Given the description of an element on the screen output the (x, y) to click on. 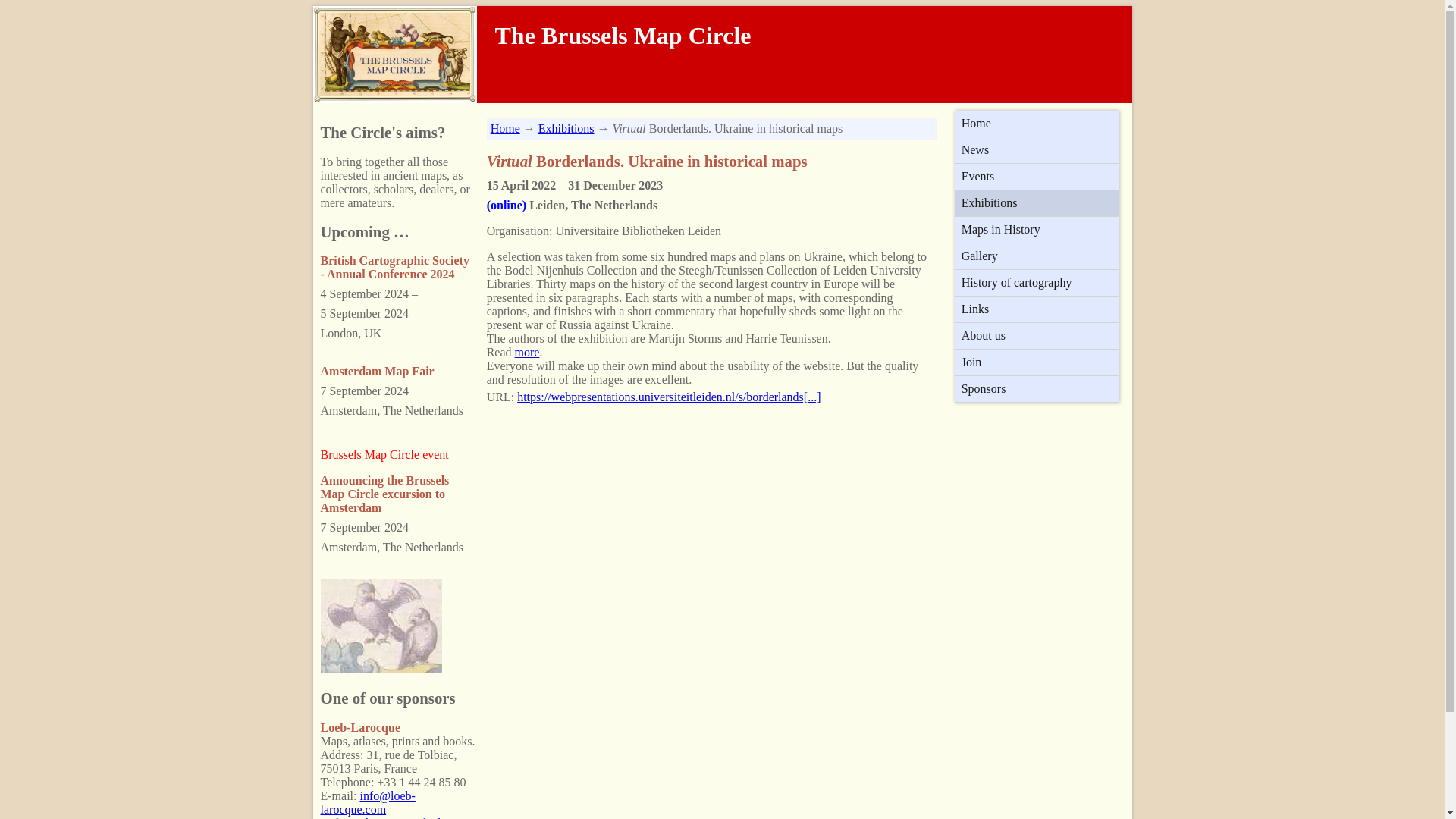
Events (1037, 176)
Join (1037, 362)
About us (1037, 335)
News (1037, 149)
The Brussels Map Circle (615, 39)
Home (1037, 123)
British Cartographic Society - Annual Conference 2024 (394, 266)
more (527, 351)
Sponsors (1037, 388)
Amsterdam Map Fair (376, 370)
Gallery (1037, 256)
Home (504, 128)
Exhibitions (566, 128)
Exhibitions (1037, 203)
Announcing the Brussels Map Circle excursion to Amsterdam (384, 494)
